Given the description of an element on the screen output the (x, y) to click on. 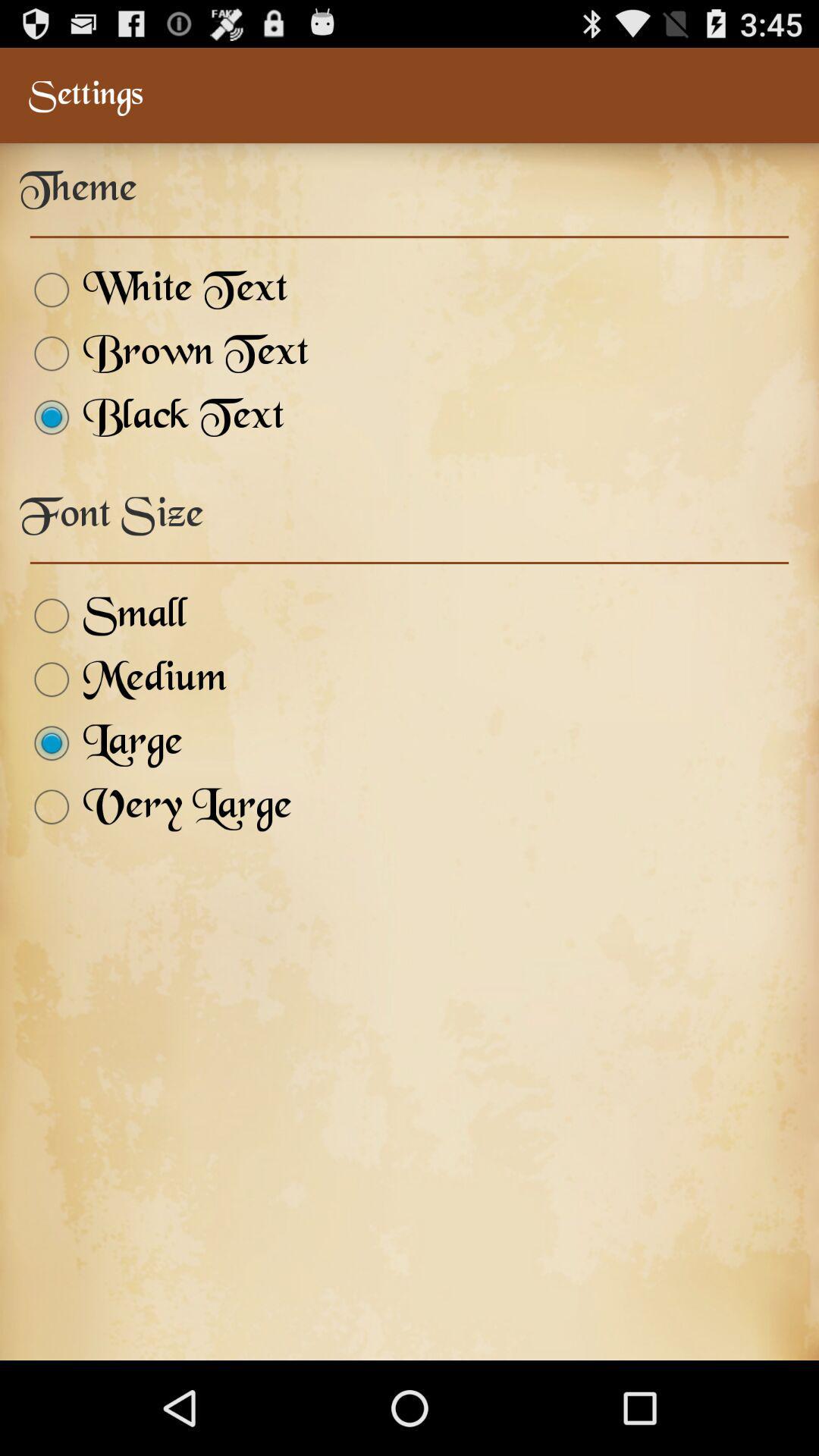
scroll to the black text (151, 417)
